Given the description of an element on the screen output the (x, y) to click on. 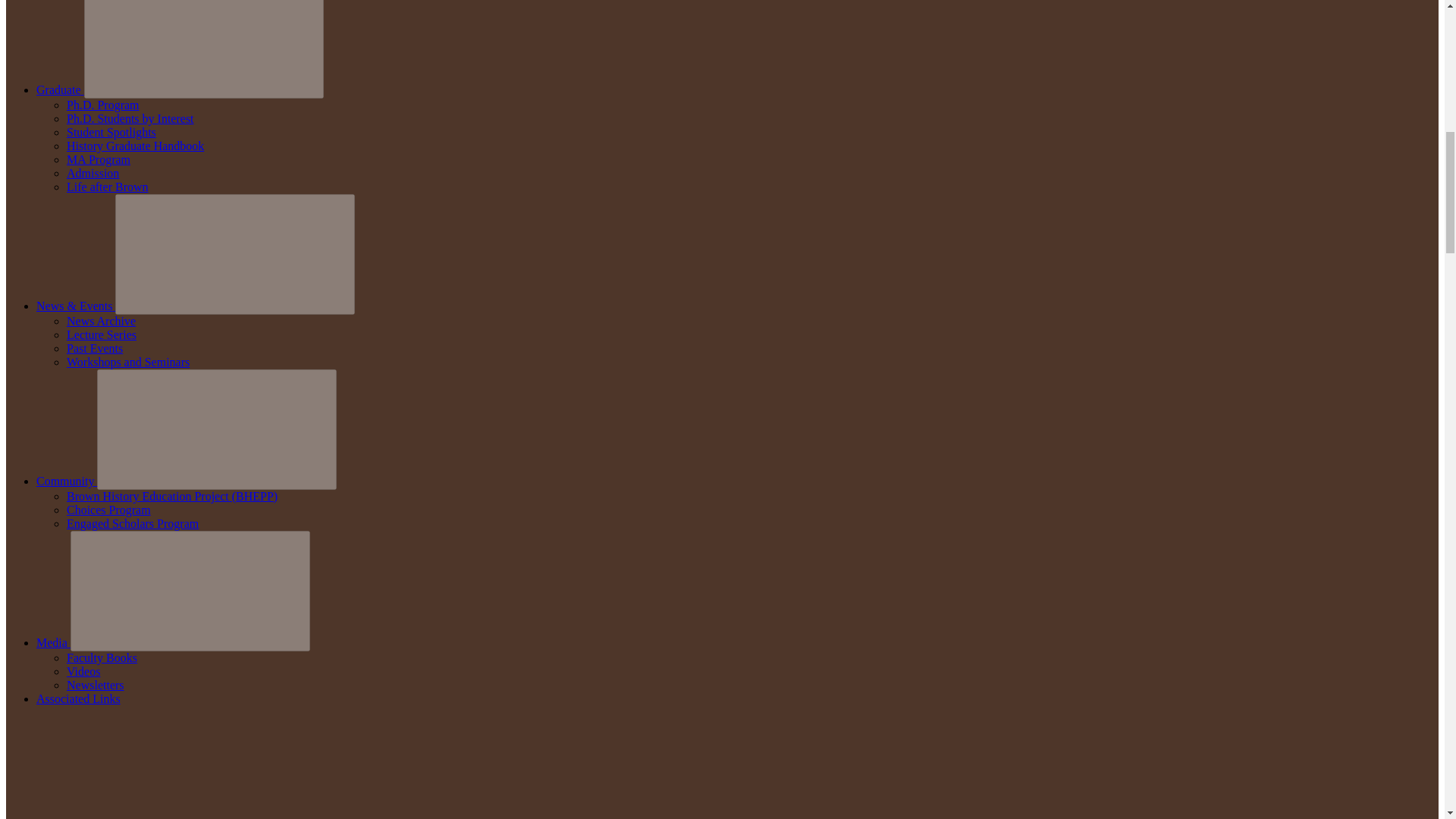
MA Program (98, 159)
Life after Brown (107, 186)
Past Events (94, 348)
Student Spotlights (110, 132)
History Graduate Handbook (134, 145)
Community (66, 481)
Ph.D. Program (102, 104)
Graduate (60, 89)
Lecture Series (101, 334)
Ph.D. Students by Interest (129, 118)
Admission (92, 173)
Workshops and Seminars (127, 361)
News Archive (100, 320)
